Given the description of an element on the screen output the (x, y) to click on. 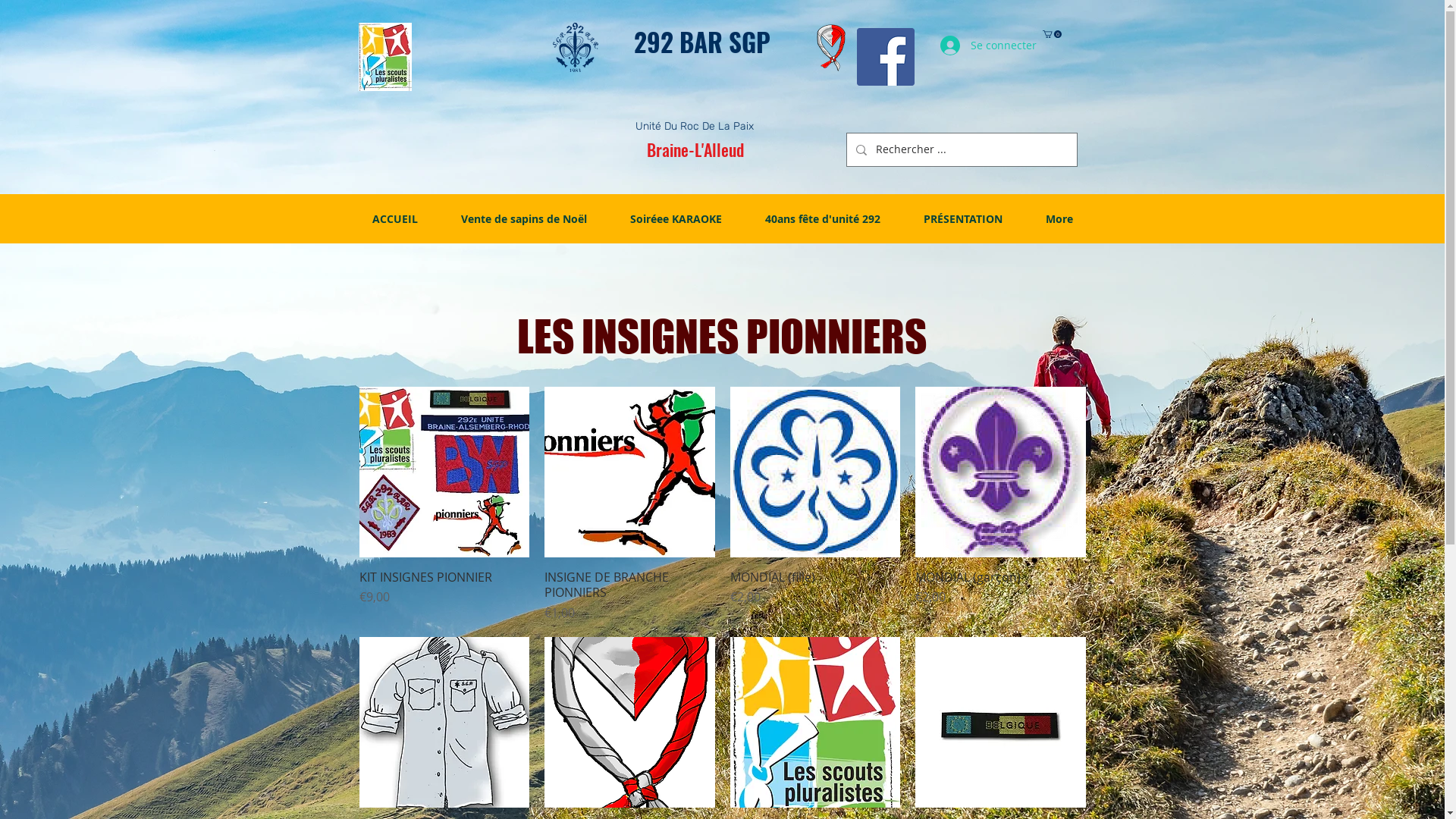
Se connecter Element type: text (974, 45)
ACCUEIL Element type: text (394, 219)
0 Element type: text (1050, 33)
